Given the description of an element on the screen output the (x, y) to click on. 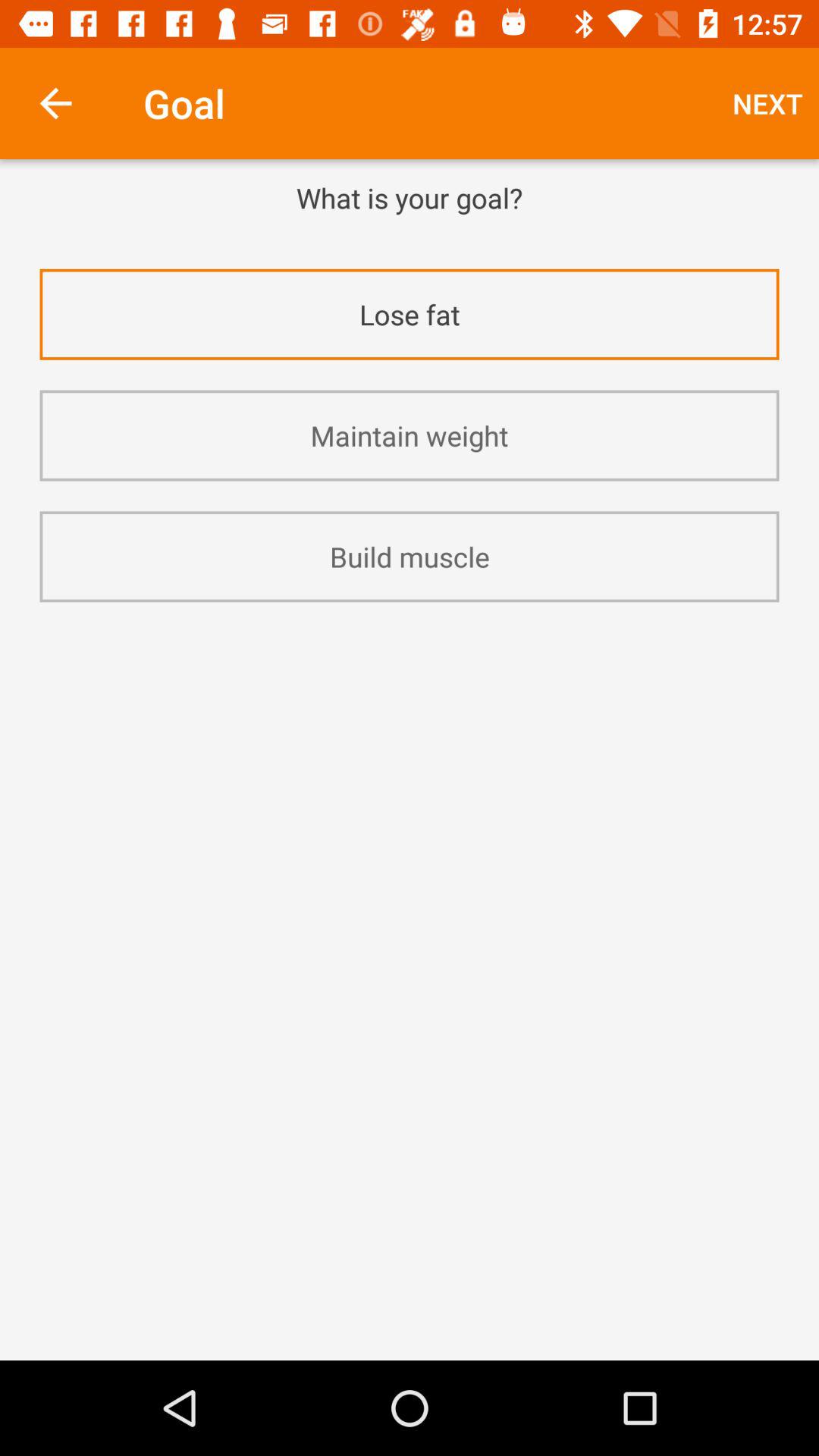
turn on what is your icon (409, 197)
